Given the description of an element on the screen output the (x, y) to click on. 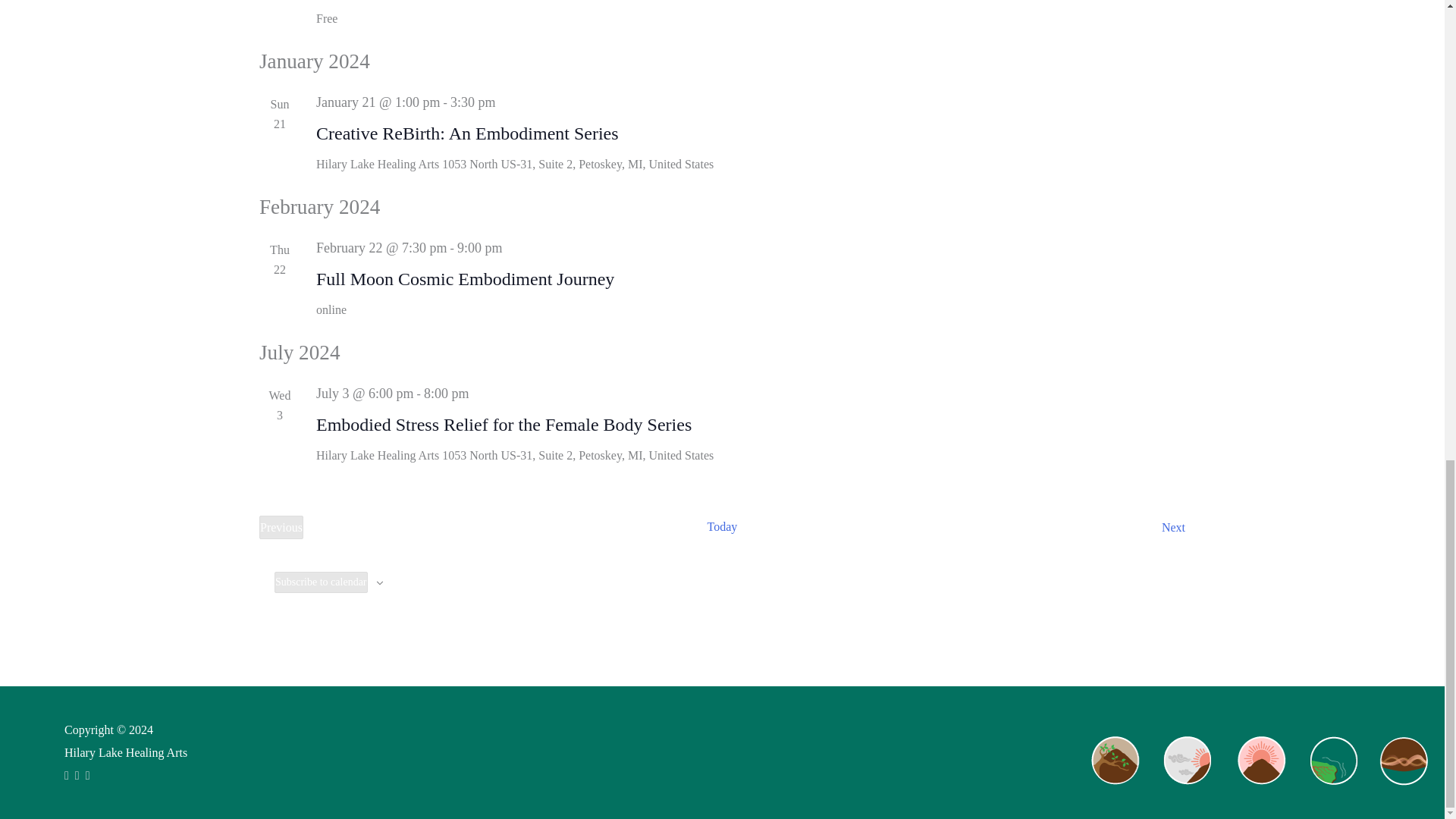
Embodied Stress Relief for the Female Body Series (503, 424)
Creative ReBirth: An Embodiment Series (466, 133)
Today (1173, 527)
Full Moon Cosmic Embodiment Journey (722, 527)
Embodied Stress Relief for the Female Body Series (464, 279)
Previous Events (503, 424)
Full Moon Cosmic Embodiment Journey (280, 527)
Creative ReBirth: An Embodiment Series (280, 527)
